Given the description of an element on the screen output the (x, y) to click on. 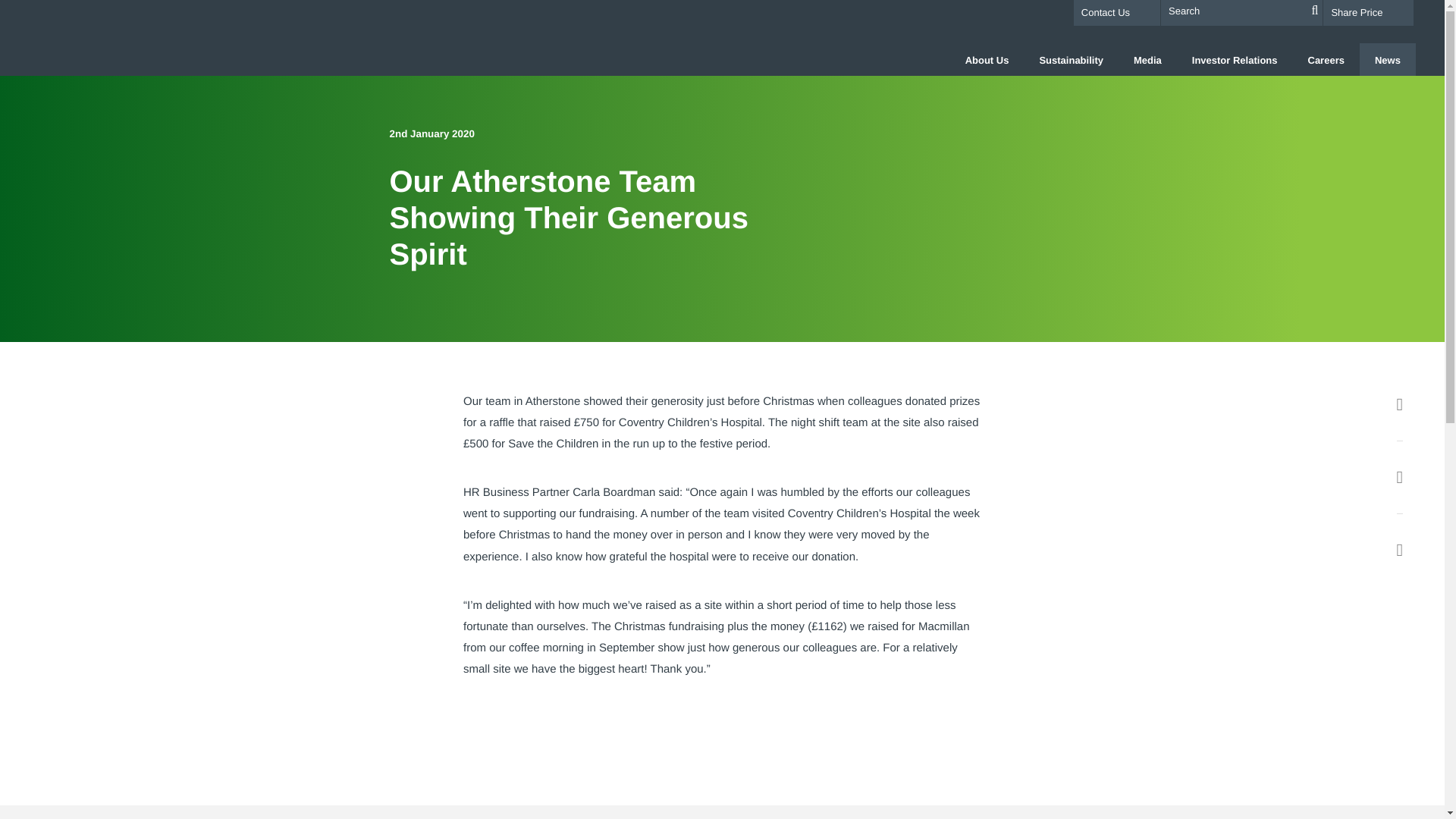
Return to Greencore homepage (152, 31)
Share Price (1367, 12)
About Us (987, 59)
Investor Relations (1234, 59)
Search (1315, 11)
Media (1147, 59)
Careers (1325, 59)
Greencore (152, 31)
Contact Us (1116, 13)
Sustainability (1070, 59)
